Given the description of an element on the screen output the (x, y) to click on. 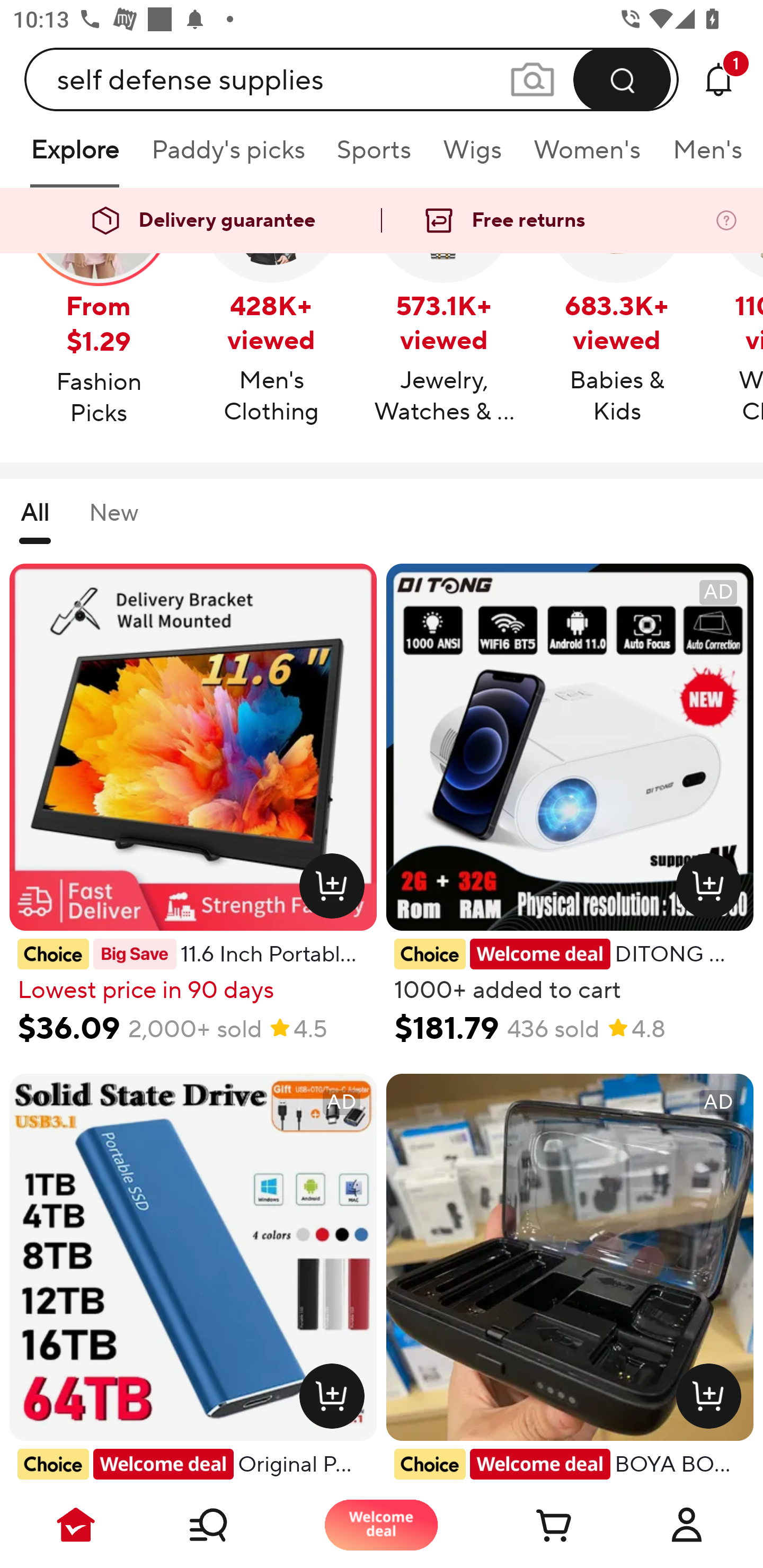
self defense supplies (351, 79)
Paddy's picks (227, 155)
Sports (373, 155)
Wigs (472, 155)
Women's (586, 155)
Men's (701, 155)
From $1.29 Fashion Picks (98, 308)
428K+ viewed Men's Clothing (270, 308)
573.1K+ viewed Jewelry, Watches & Accessories (444, 308)
683.3K+ viewed Babies & Kids (616, 308)
New (113, 521)
Shop (228, 1524)
Cart (533, 1524)
Account (686, 1524)
